Given the description of an element on the screen output the (x, y) to click on. 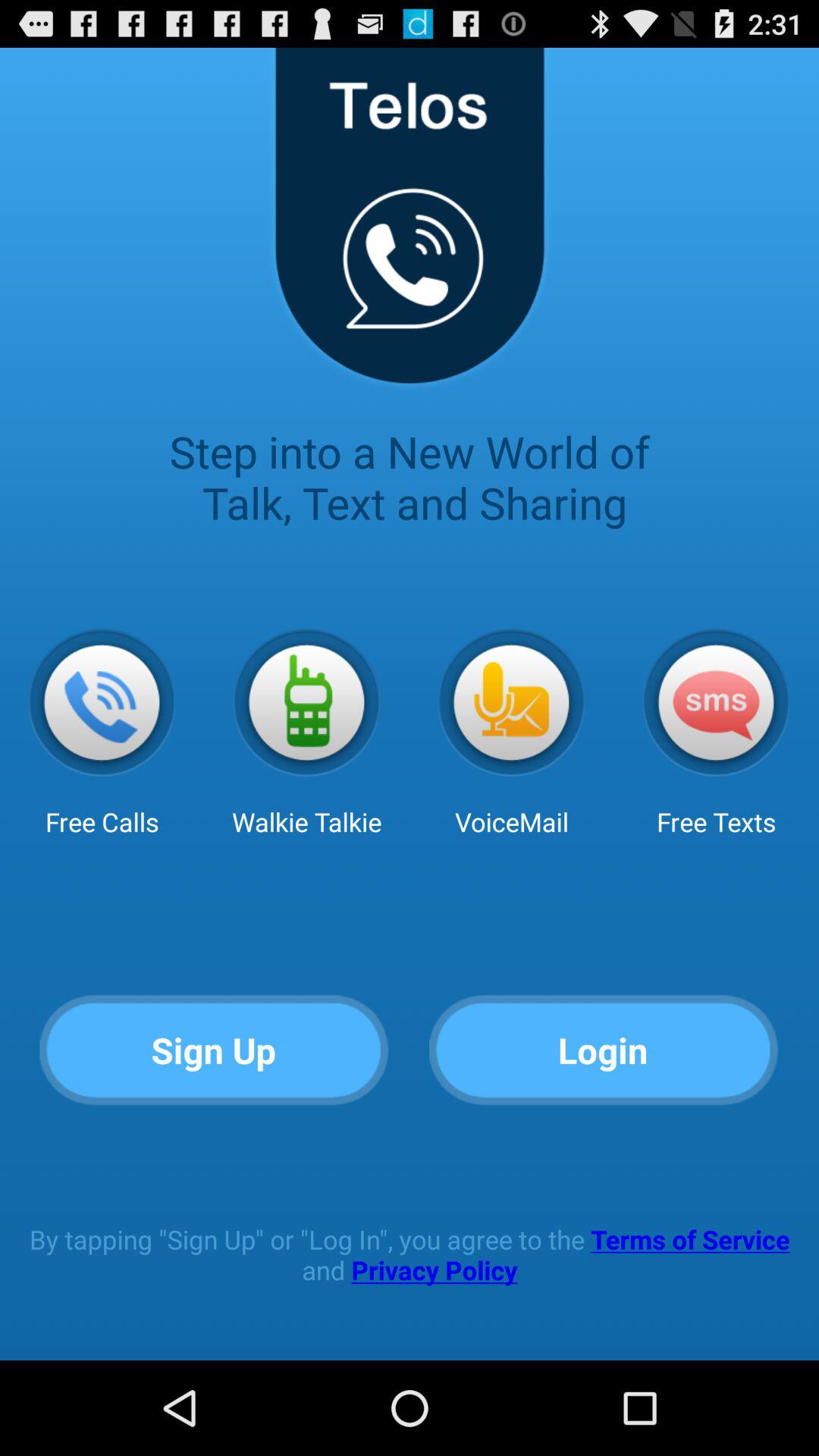
flip until the by tapping sign icon (409, 1254)
